Given the description of an element on the screen output the (x, y) to click on. 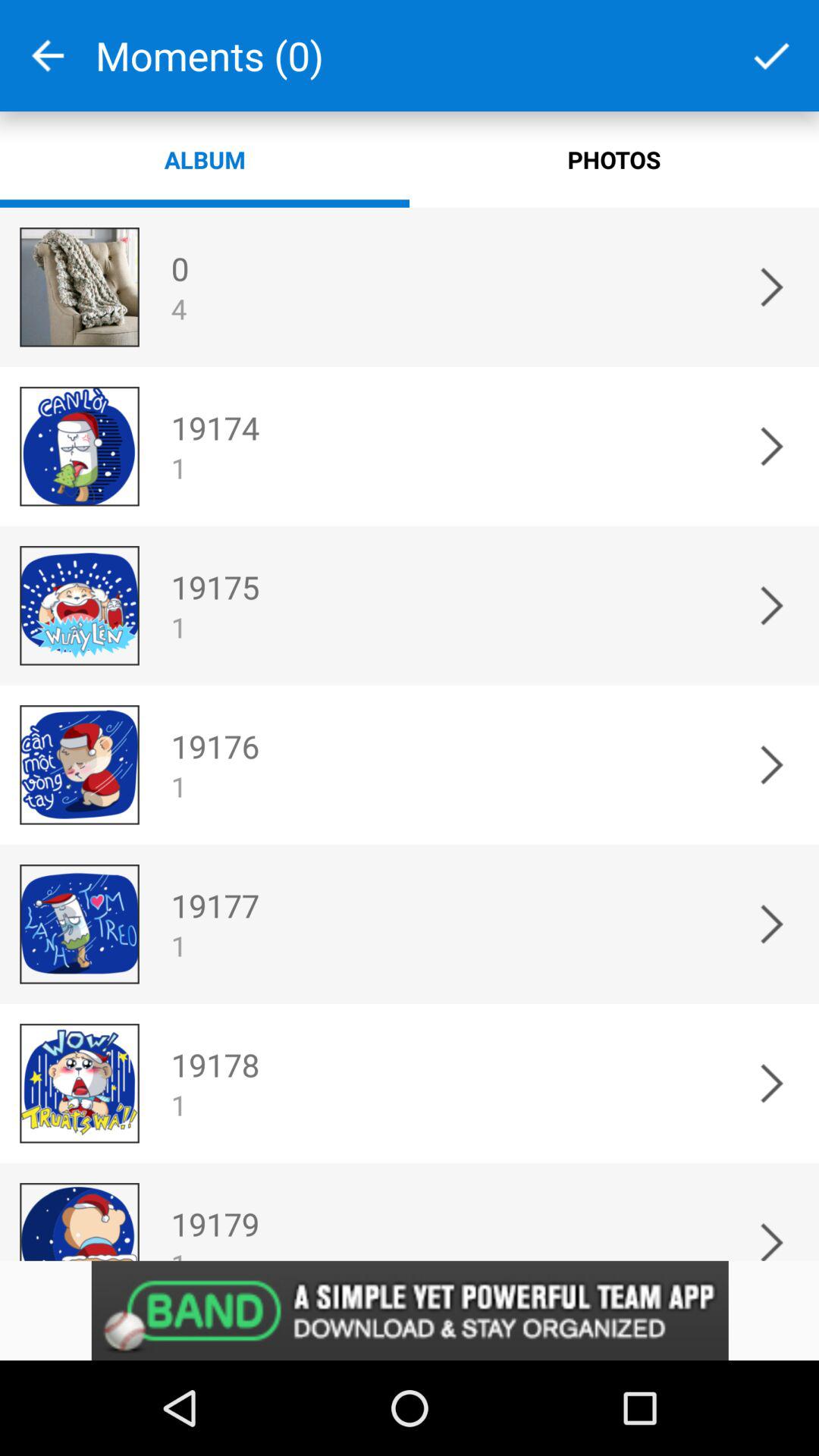
go to advert (409, 1310)
